Given the description of an element on the screen output the (x, y) to click on. 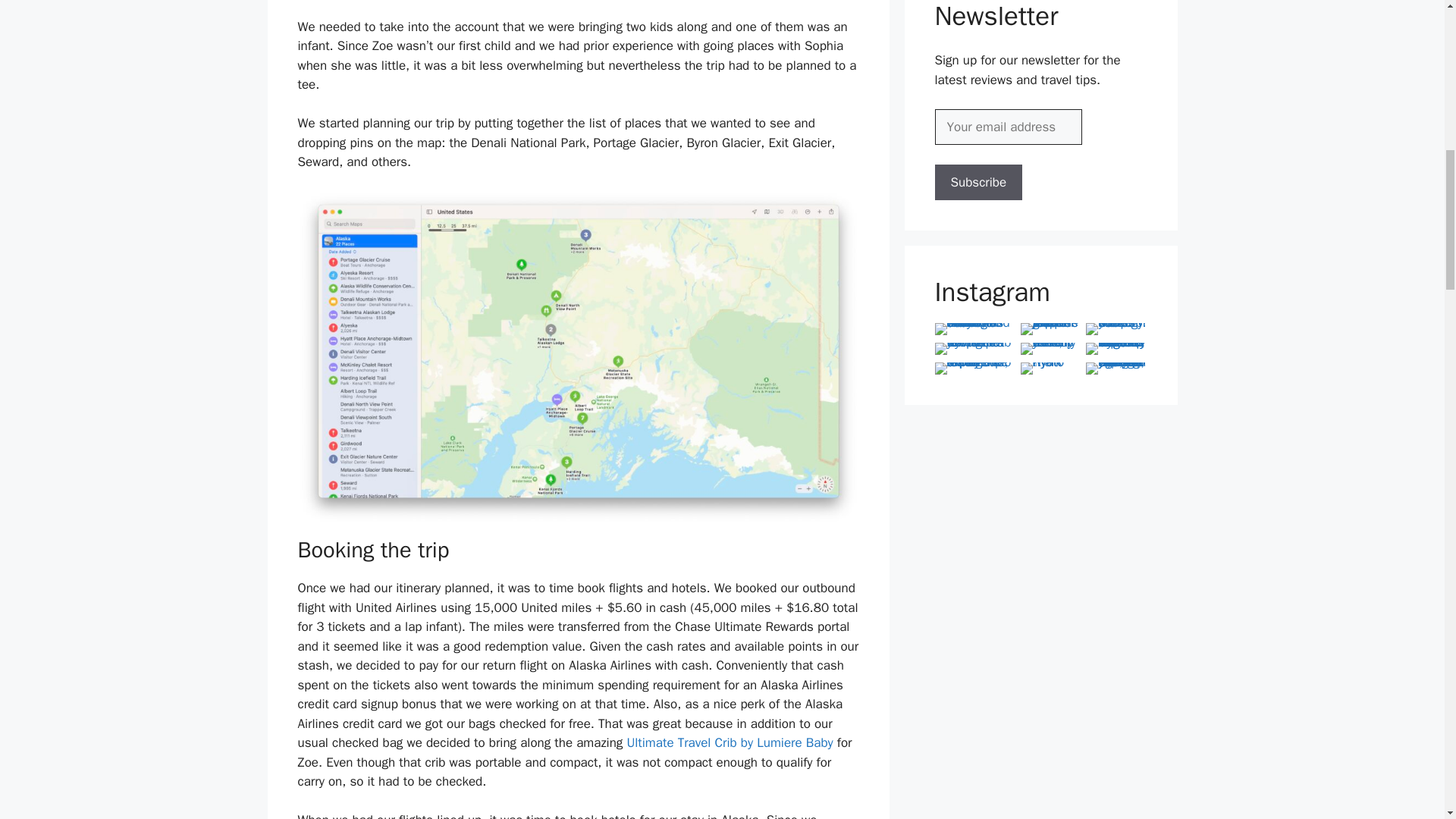
Ultimate Travel Crib by Lumiere Baby (729, 742)
Subscribe (978, 182)
Scroll back to top (1406, 720)
